Given the description of an element on the screen output the (x, y) to click on. 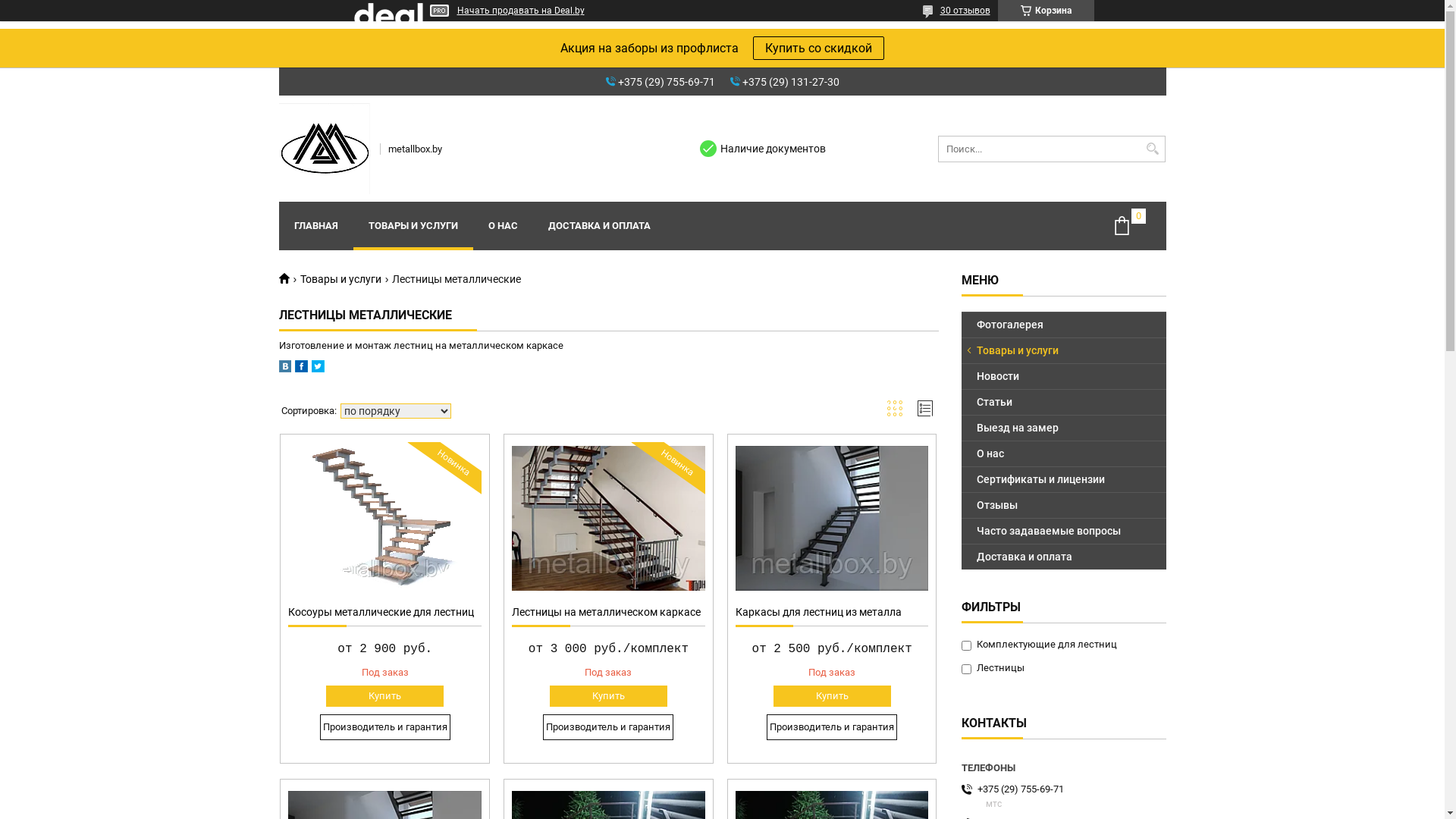
facebook Element type: hover (300, 368)
twitter Element type: hover (316, 368)
